Given the description of an element on the screen output the (x, y) to click on. 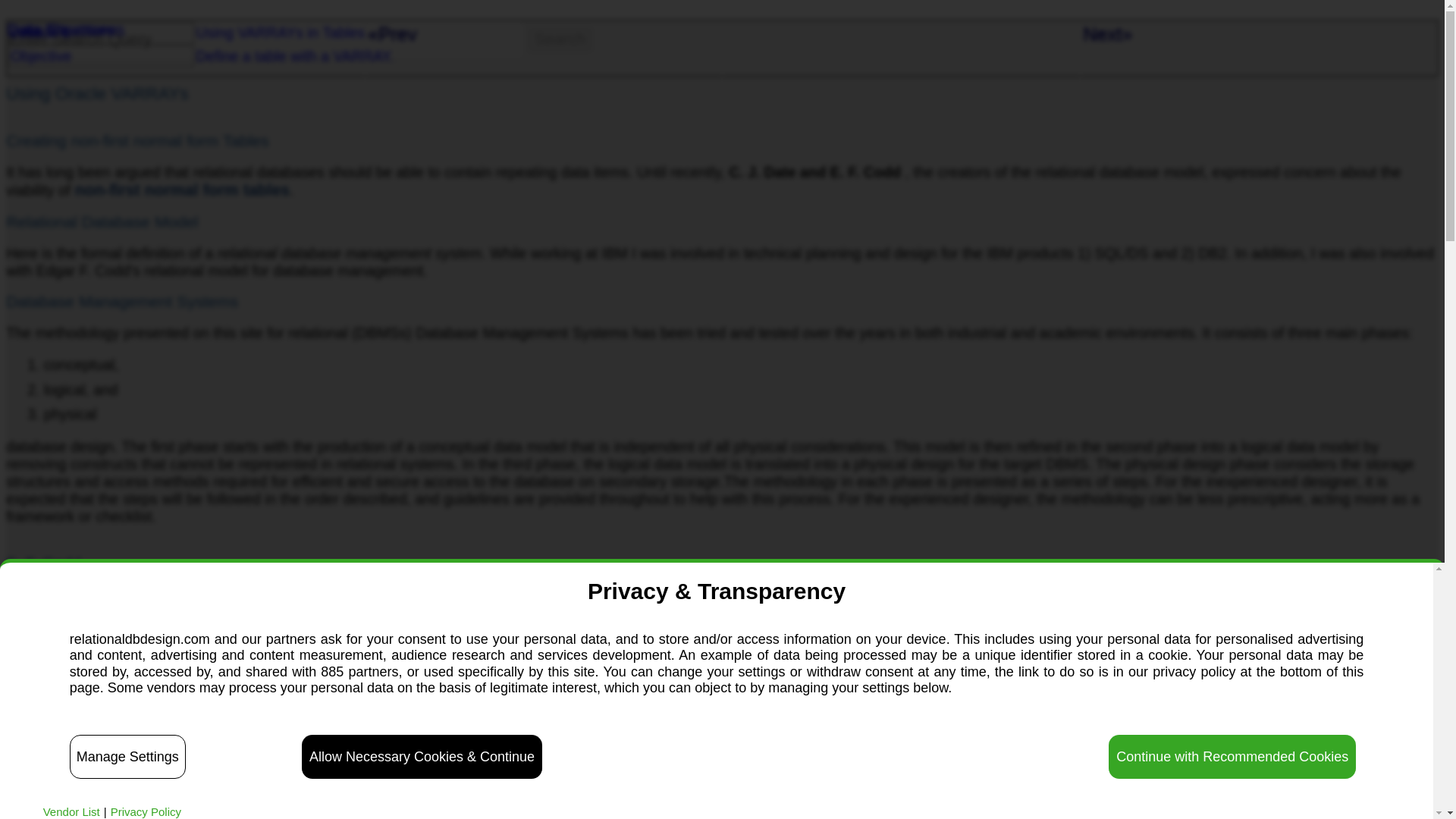
Search (560, 39)
Search (560, 39)
SQL Tuning (721, 721)
Search (560, 39)
Advanced Tuning (245, 721)
SiteMap (27, 25)
